Given the description of an element on the screen output the (x, y) to click on. 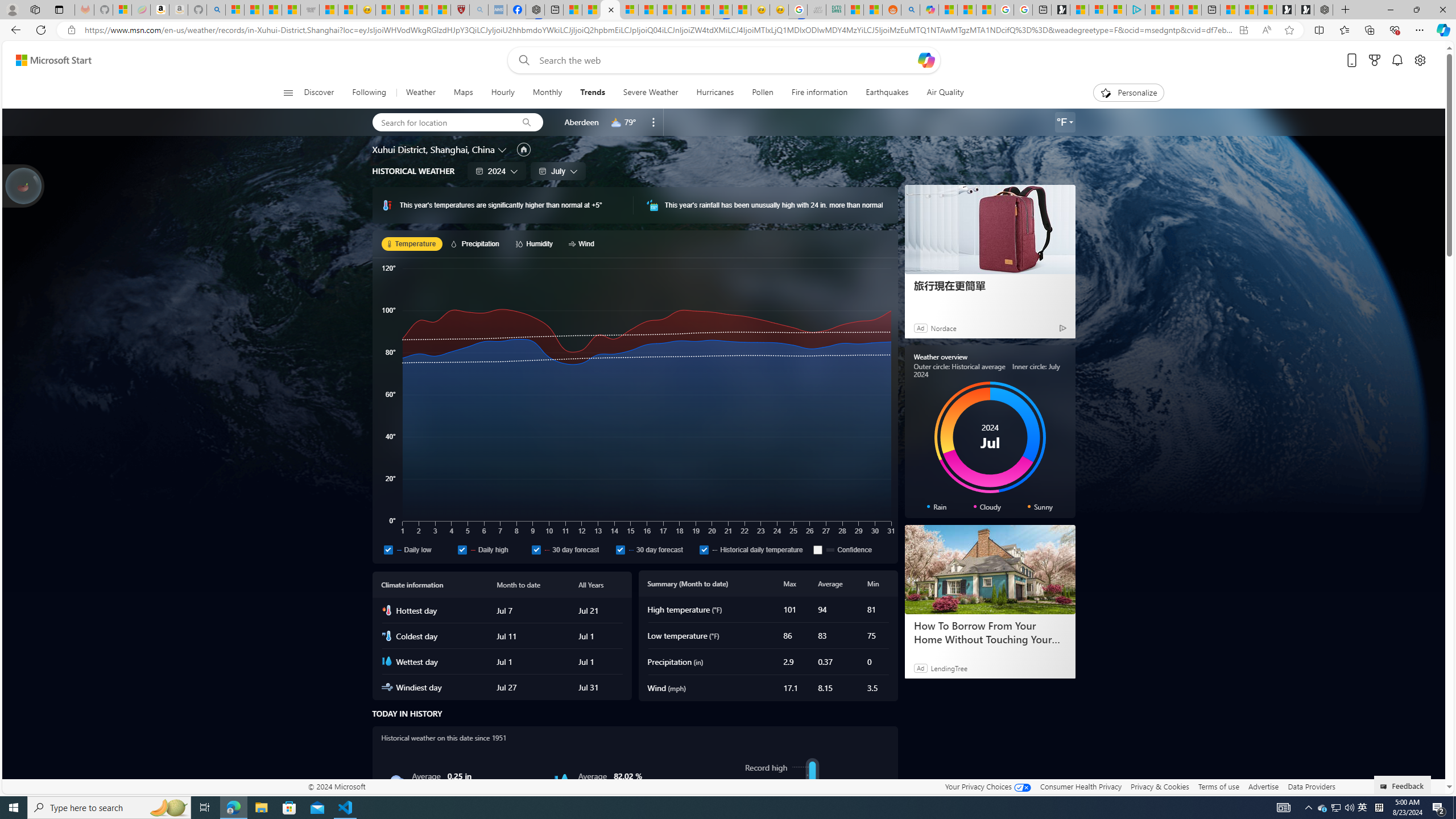
Join us in planting real trees to help our planet! (23, 185)
Monthly (547, 92)
Pollen (762, 92)
Earthquakes (887, 92)
Consumer Health Privacy (1080, 785)
